Given the description of an element on the screen output the (x, y) to click on. 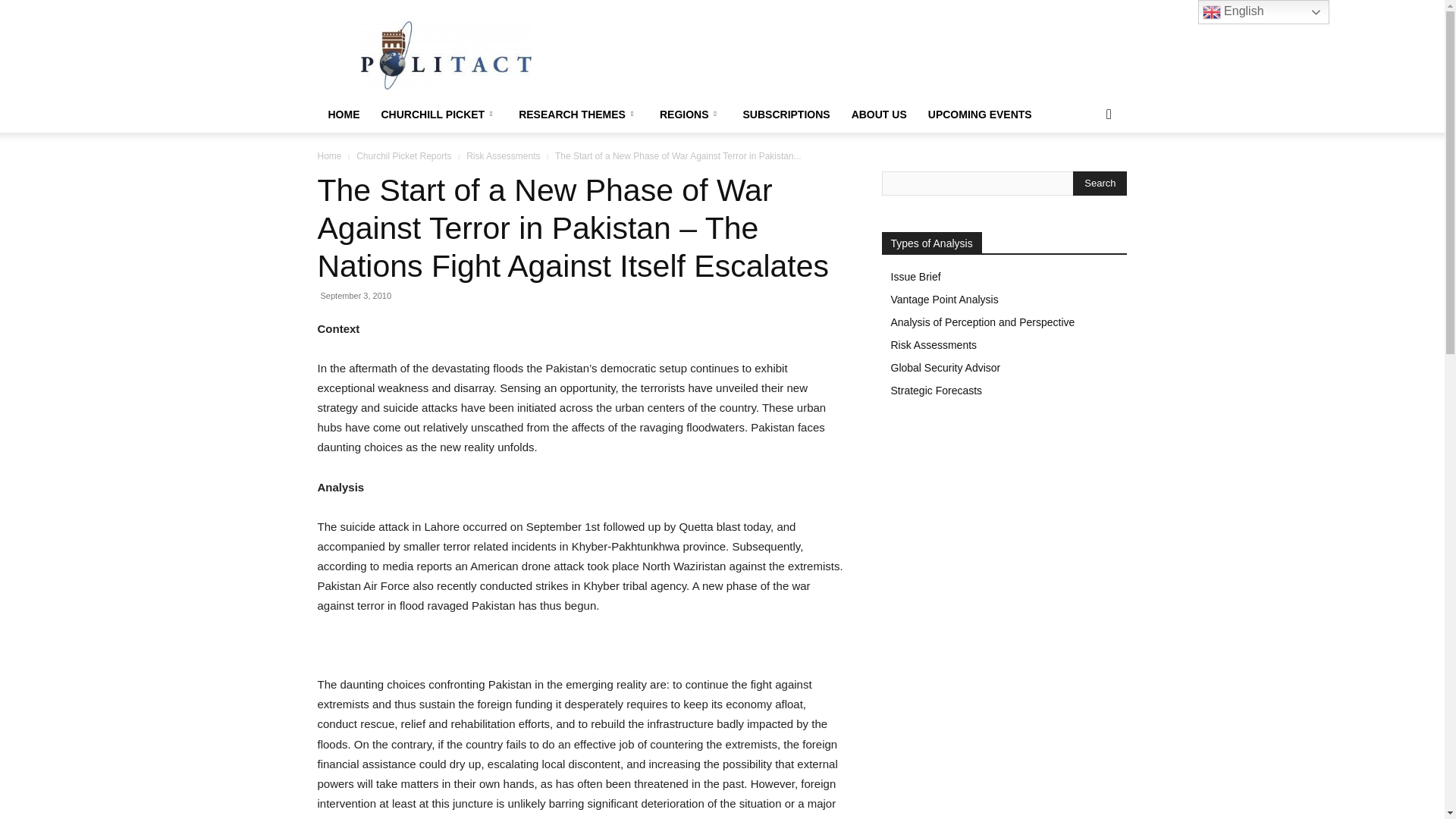
HOME (343, 114)
View all posts in Risk Assessments (502, 155)
Search (1099, 183)
CHURCHILL PICKET (438, 114)
View all posts in Churchil Picket Reports (403, 155)
